Given the description of an element on the screen output the (x, y) to click on. 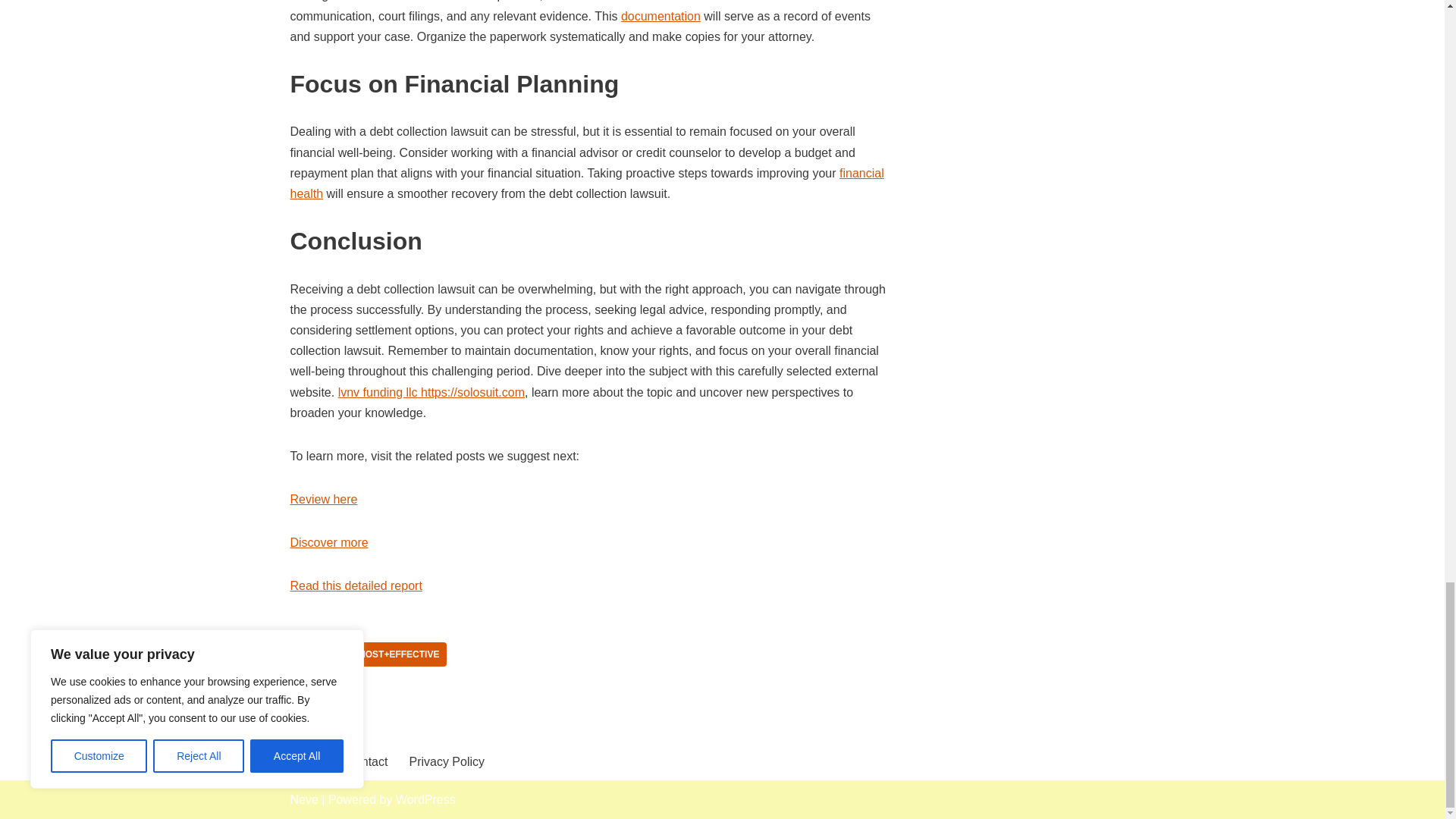
financial health (586, 183)
Review here (322, 499)
Read this detailed report (355, 585)
Discover more (328, 542)
documentation (660, 15)
